Given the description of an element on the screen output the (x, y) to click on. 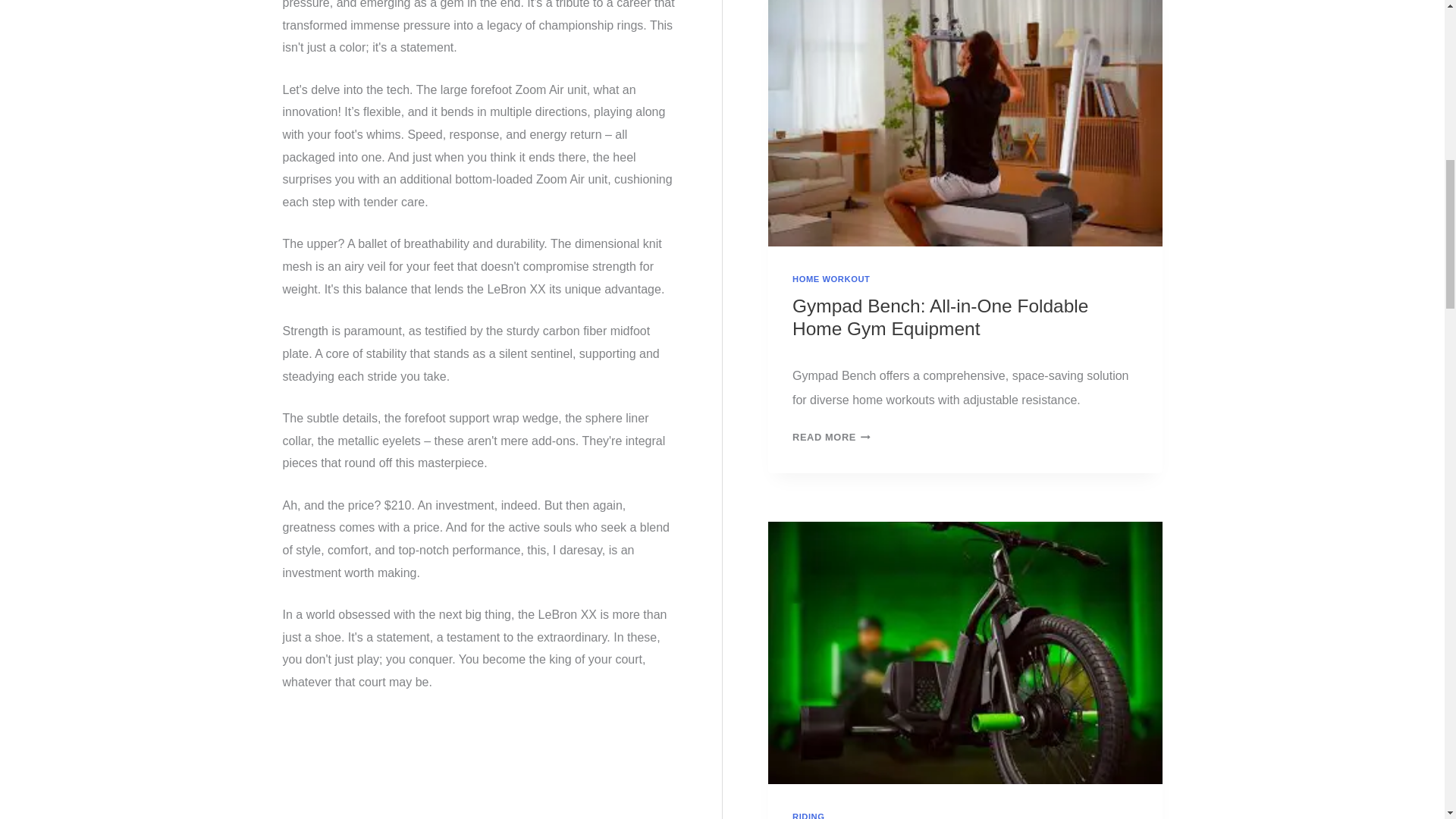
LeBron XX: Why Everyone Loves It (479, 765)
